Given the description of an element on the screen output the (x, y) to click on. 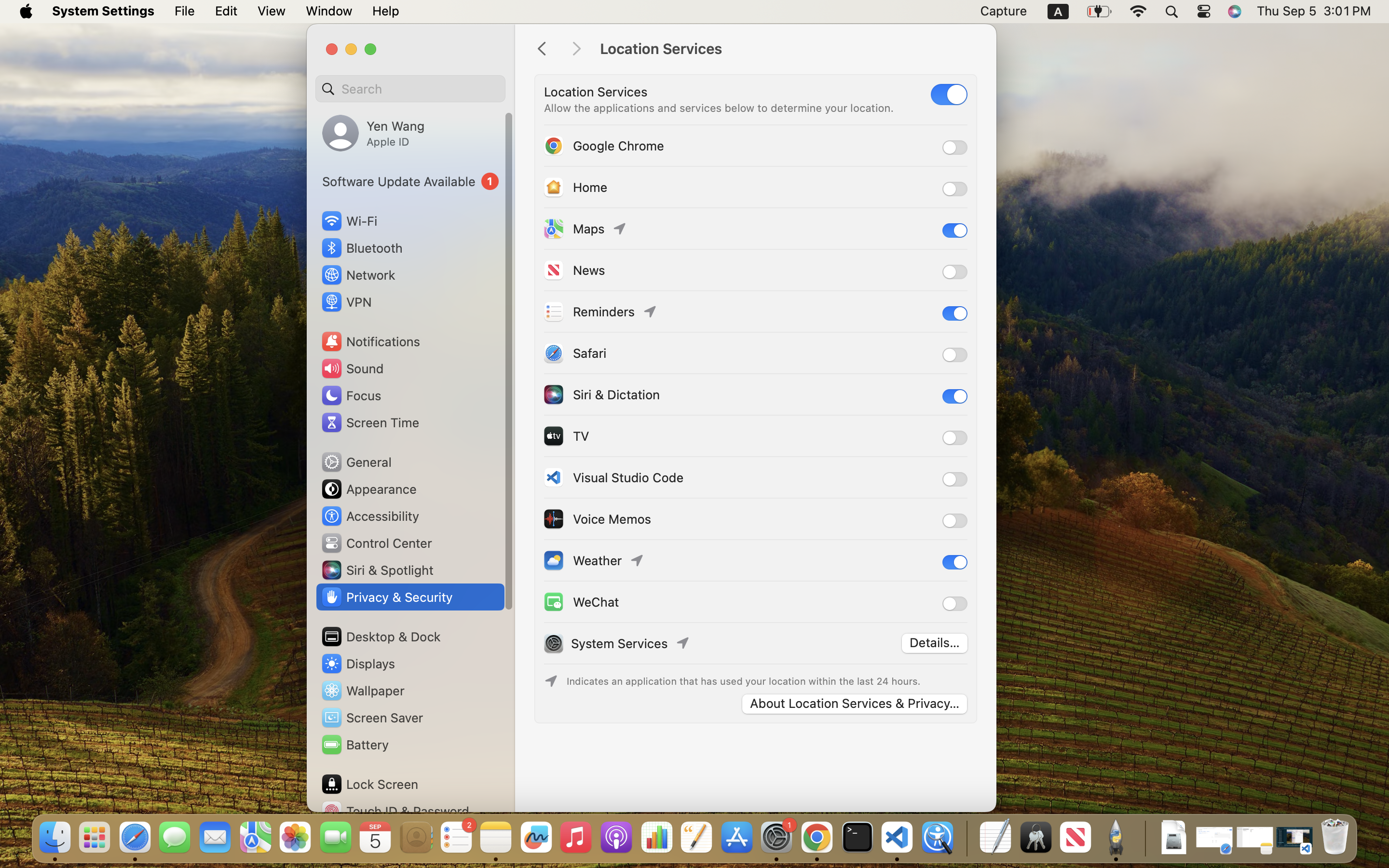
0.4285714328289032 Element type: AXDockItem (965, 837)
Accessibility Element type: AXStaticText (369, 515)
Screen Saver Element type: AXStaticText (371, 717)
Google Chrome Element type: AXStaticText (603, 145)
